Given the description of an element on the screen output the (x, y) to click on. 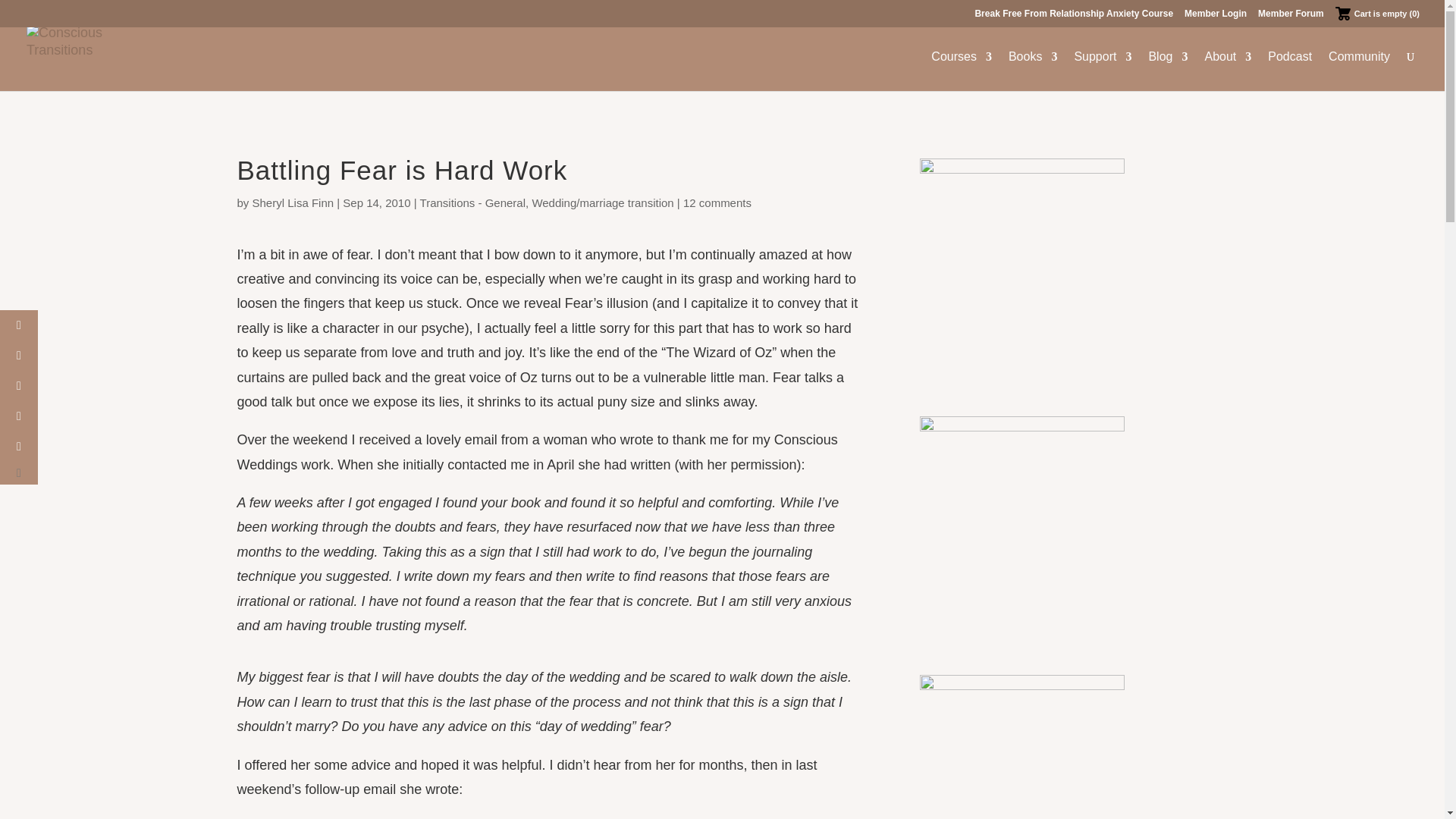
Break Free From Relationship Anxiety Course (1073, 17)
About (1227, 70)
Member Login (1215, 17)
Posts by Sheryl Lisa Finn (292, 202)
Courses (961, 70)
Blog (1168, 70)
Books (1033, 70)
Support (1102, 70)
Member Forum (1290, 17)
